Given the description of an element on the screen output the (x, y) to click on. 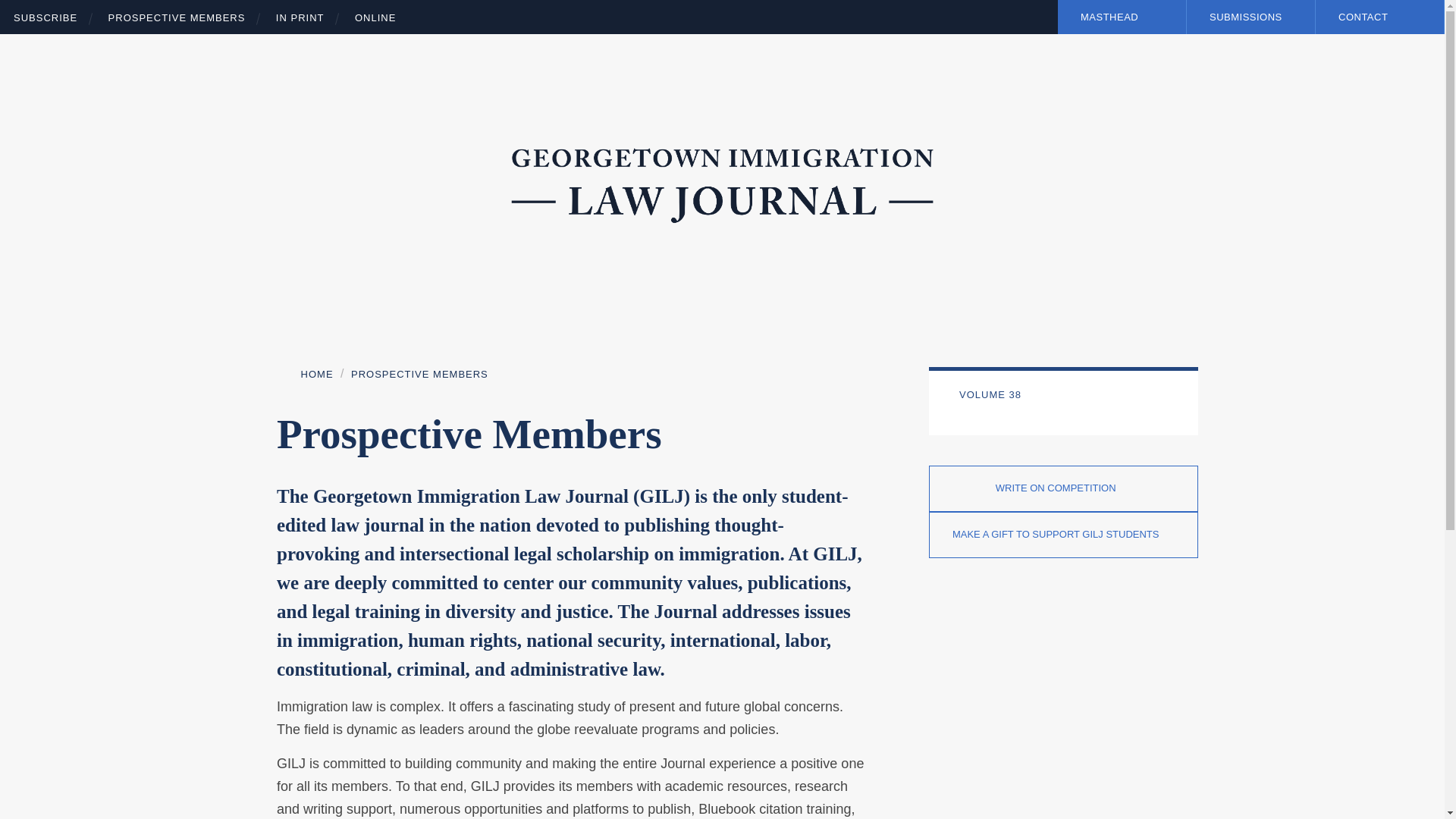
MAKE A GIFT TO SUPPORT GILJ STUDENTS (1063, 534)
SUBSCRIBE (45, 18)
CONTACT (1380, 17)
PROSPECTIVE MEMBERS (176, 18)
SUBMISSIONS (1250, 17)
ONLINE (375, 18)
IN PRINT (300, 18)
VOLUME 38 (1070, 395)
WRITE ON COMPETITION (1063, 488)
Expand Navigation (1173, 15)
HOME (304, 374)
MASTHEAD (1122, 17)
